Given the description of an element on the screen output the (x, y) to click on. 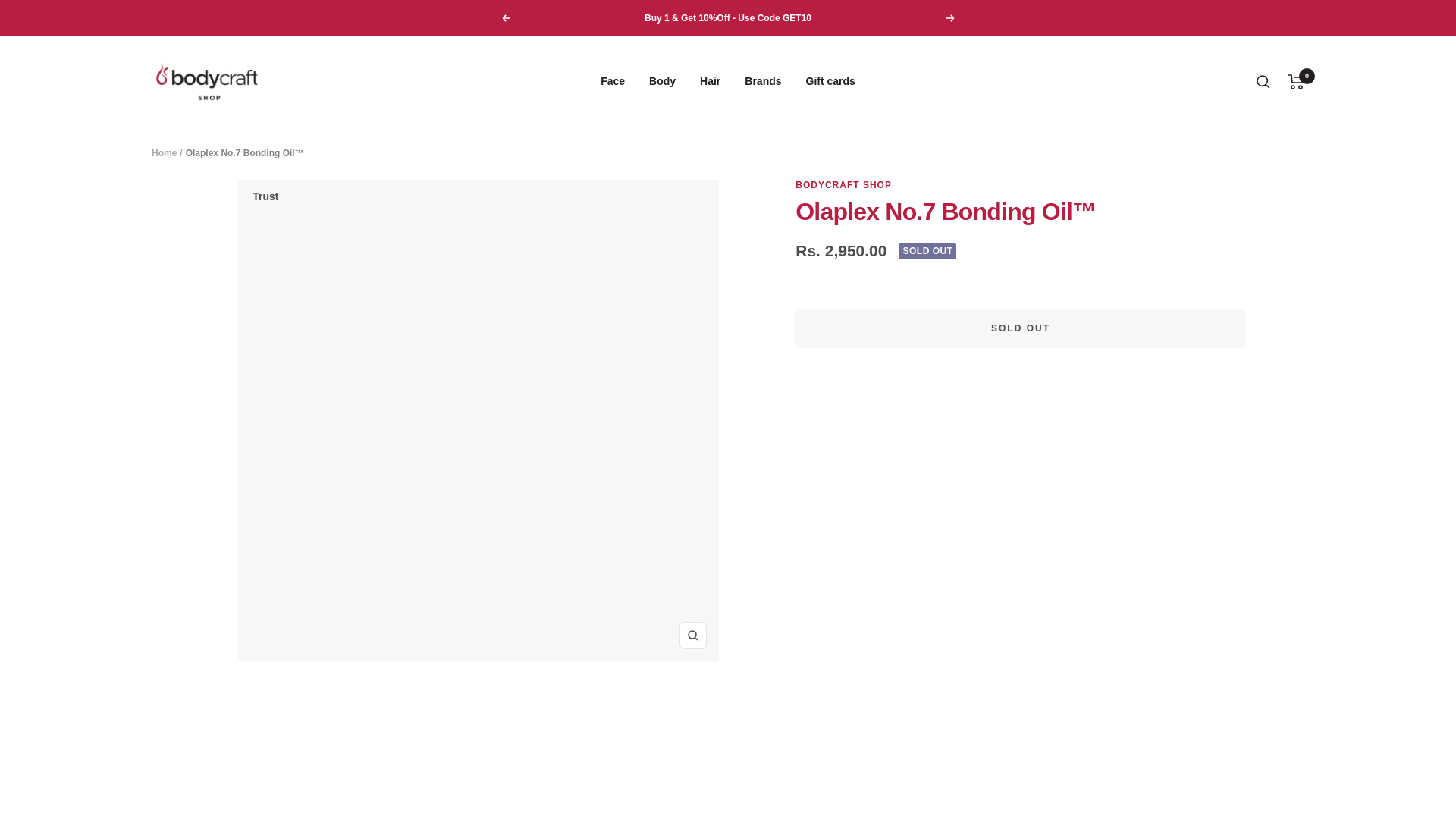
Face (611, 81)
0 (1296, 81)
Previous (504, 18)
Next (950, 18)
Hair (710, 81)
Bodycraft Shop (206, 80)
Gift cards (831, 81)
Body (662, 81)
Brands (762, 81)
